Given the description of an element on the screen output the (x, y) to click on. 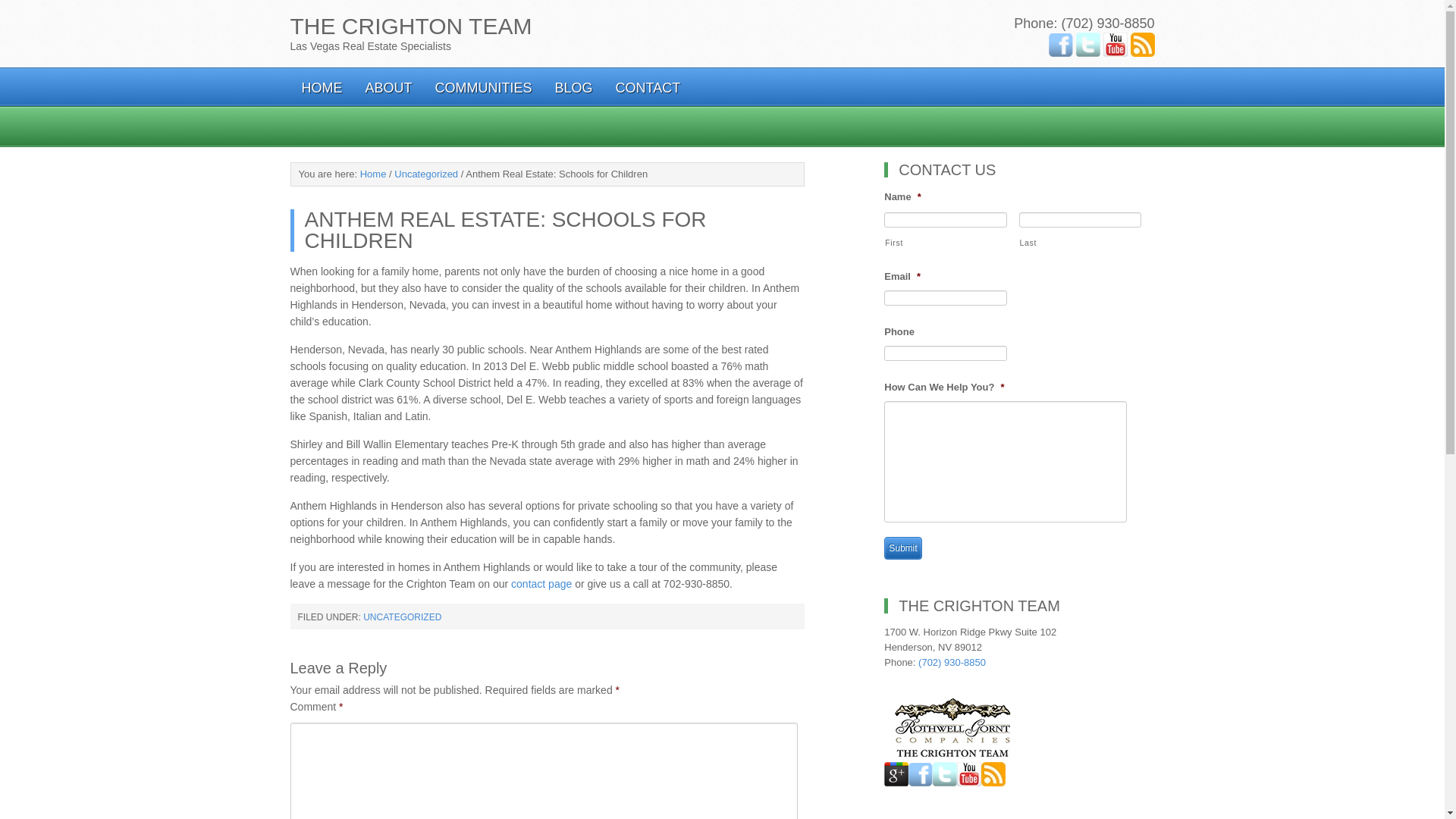
About (388, 86)
BLOG (573, 86)
Contact (648, 86)
COMMUNITIES (483, 86)
Blog (573, 86)
Communities (483, 86)
ABOUT (388, 86)
HOME (321, 86)
THE CRIGHTON TEAM (410, 25)
Follow Our Rss Feed (1141, 44)
